Given the description of an element on the screen output the (x, y) to click on. 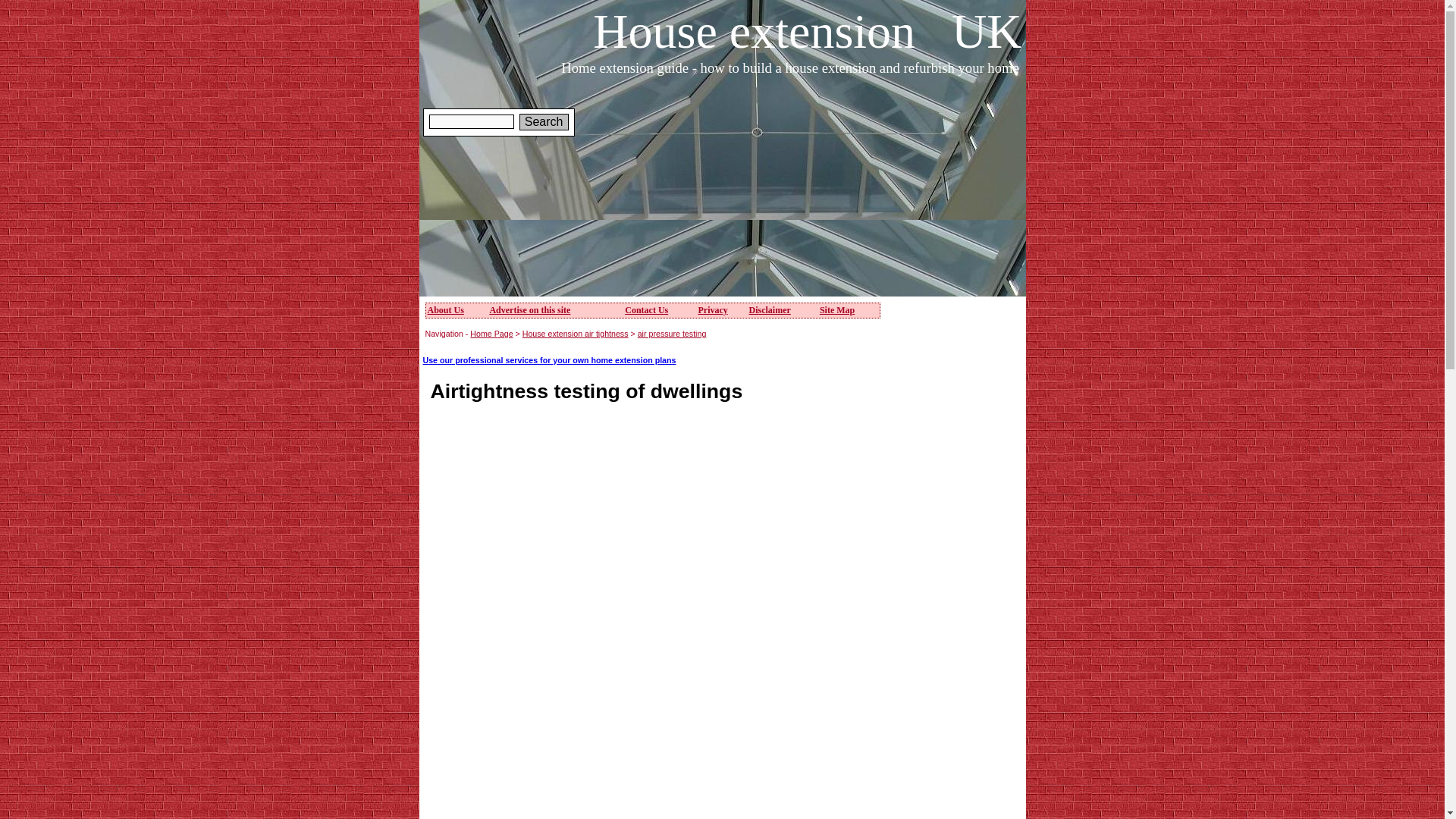
air pressure testing (671, 333)
The Christopher Hunt Practice - home extension plans (550, 359)
Advertisement (557, 723)
About Us (446, 309)
Advertisement (699, 258)
Advertise on this site (529, 309)
Search (544, 121)
Privacy (711, 309)
House extension air tightness (575, 333)
Home Page (491, 333)
Advertisement (961, 402)
Disclaimer (769, 309)
Contact Us (646, 309)
Search (544, 121)
